Given the description of an element on the screen output the (x, y) to click on. 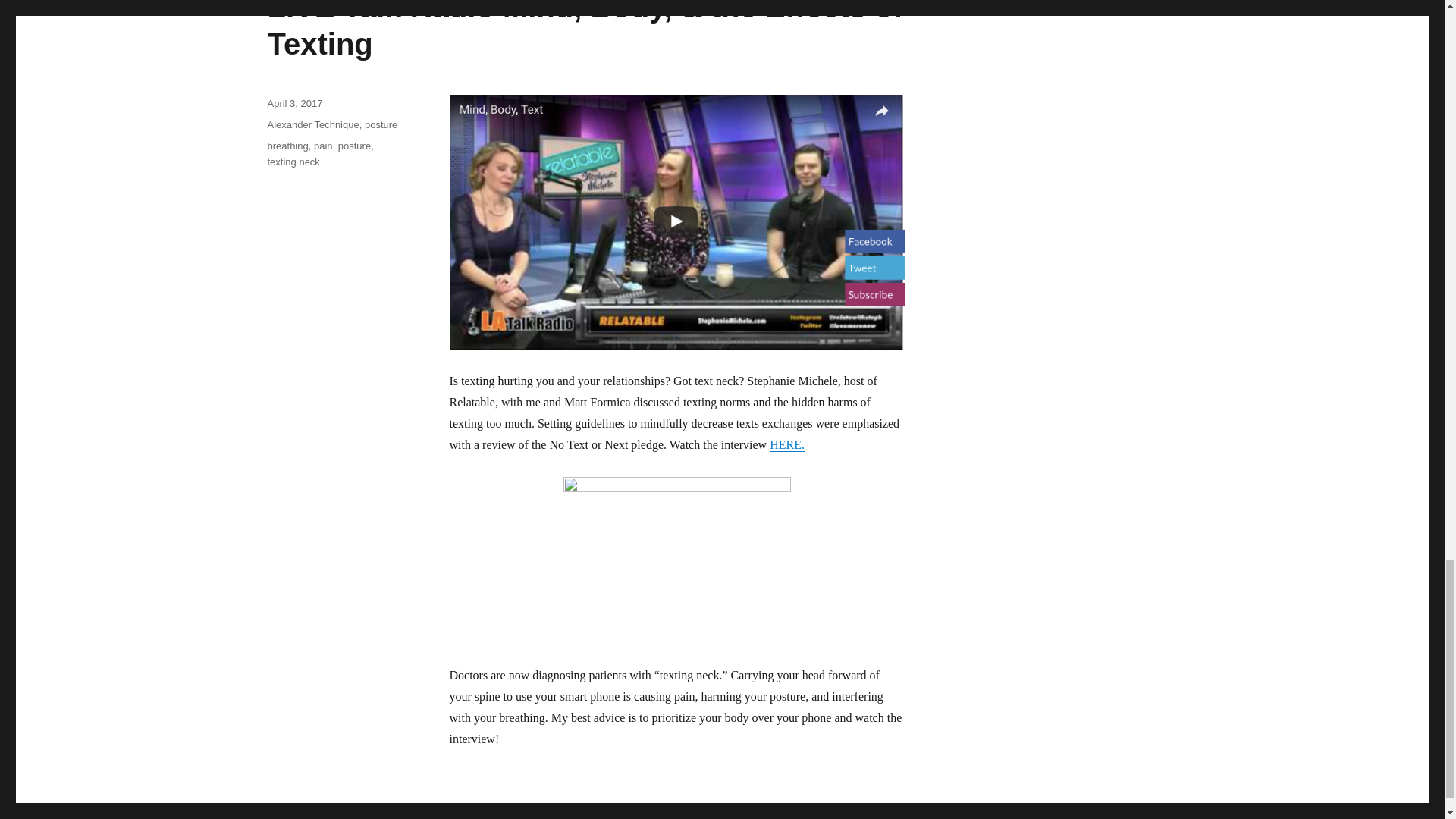
Alexander Technique (312, 124)
April 3, 2017 (293, 102)
pain (323, 145)
HERE. (787, 444)
breathing (286, 145)
posture (381, 124)
